Given the description of an element on the screen output the (x, y) to click on. 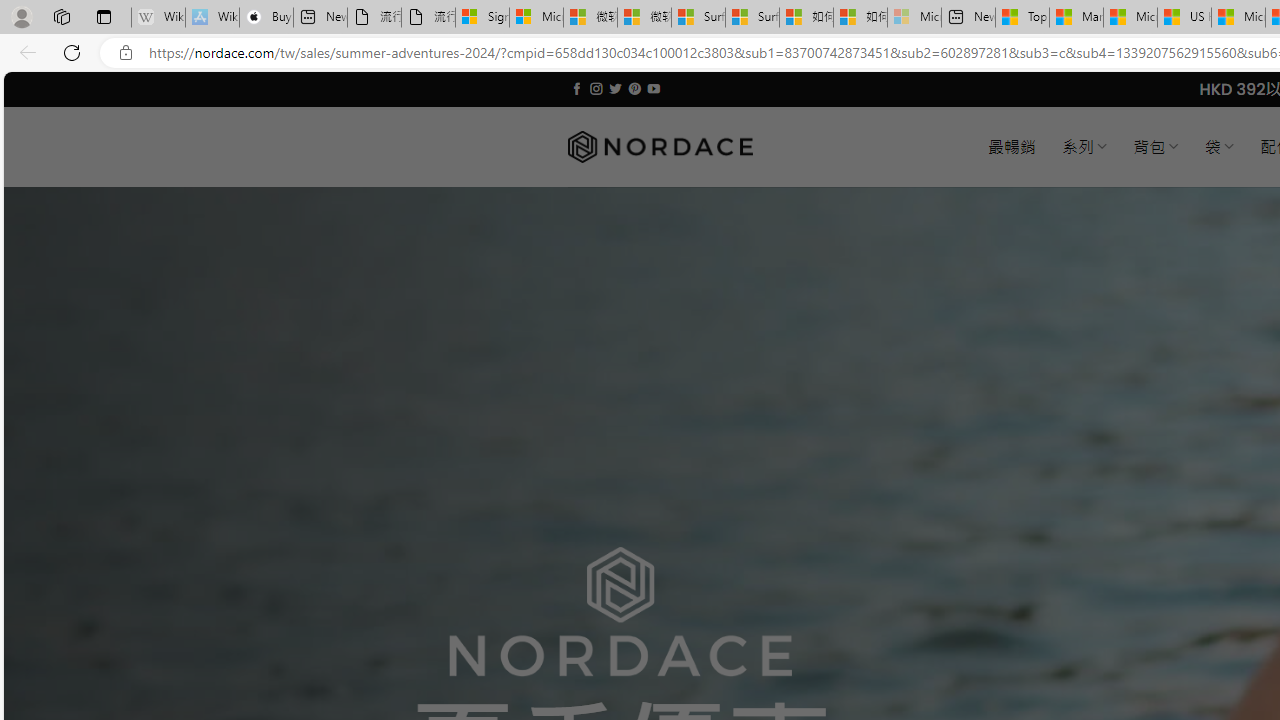
Top Stories - MSN (1022, 17)
Microsoft account | Account Checkup - Sleeping (914, 17)
Marine life - MSN (1076, 17)
Sign in to your Microsoft account (482, 17)
Follow on YouTube (653, 88)
